Given the description of an element on the screen output the (x, y) to click on. 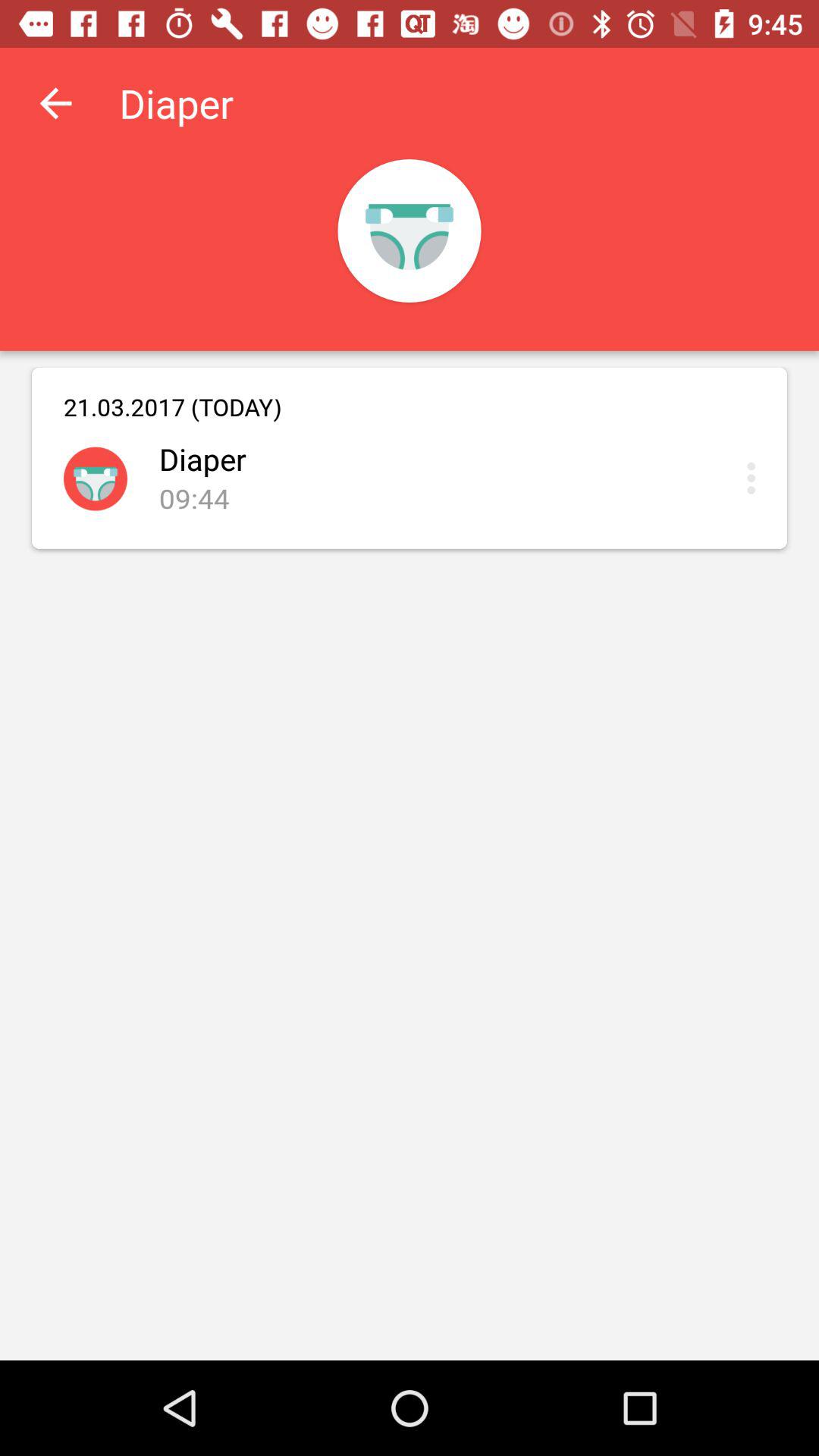
view options for this file (755, 477)
